Given the description of an element on the screen output the (x, y) to click on. 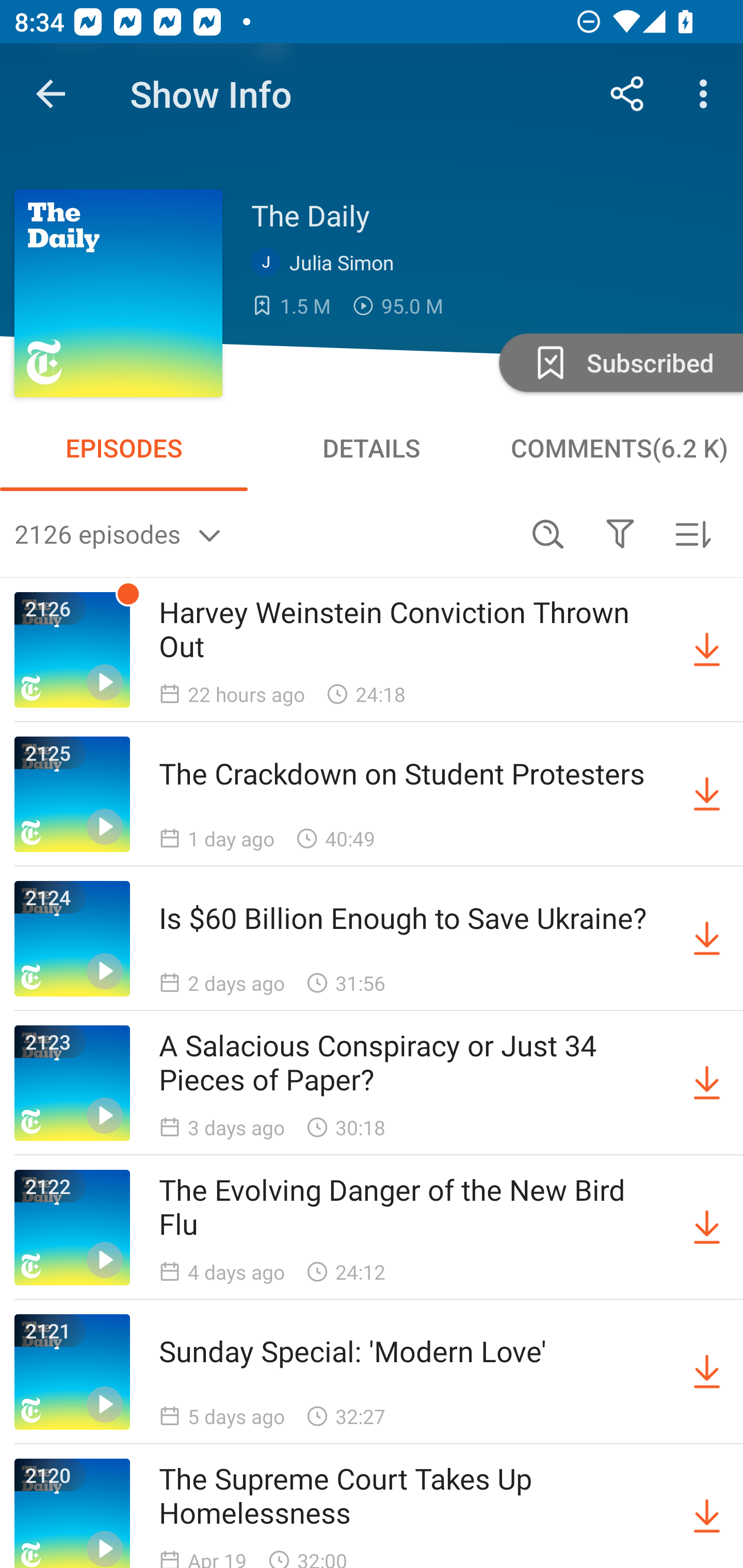
Navigate up (50, 93)
Share (626, 93)
More options (706, 93)
Julia Simon (327, 262)
Unsubscribe Subscribed (619, 361)
EPISODES (123, 447)
DETAILS (371, 447)
COMMENTS(6.2 K) (619, 447)
2126 episodes  (262, 533)
 Search (547, 533)
 (619, 533)
 Sorted by newest first (692, 533)
Download (706, 649)
Download (706, 793)
Download (706, 939)
Download (706, 1083)
Download (706, 1227)
Download (706, 1371)
Download (706, 1513)
